Given the description of an element on the screen output the (x, y) to click on. 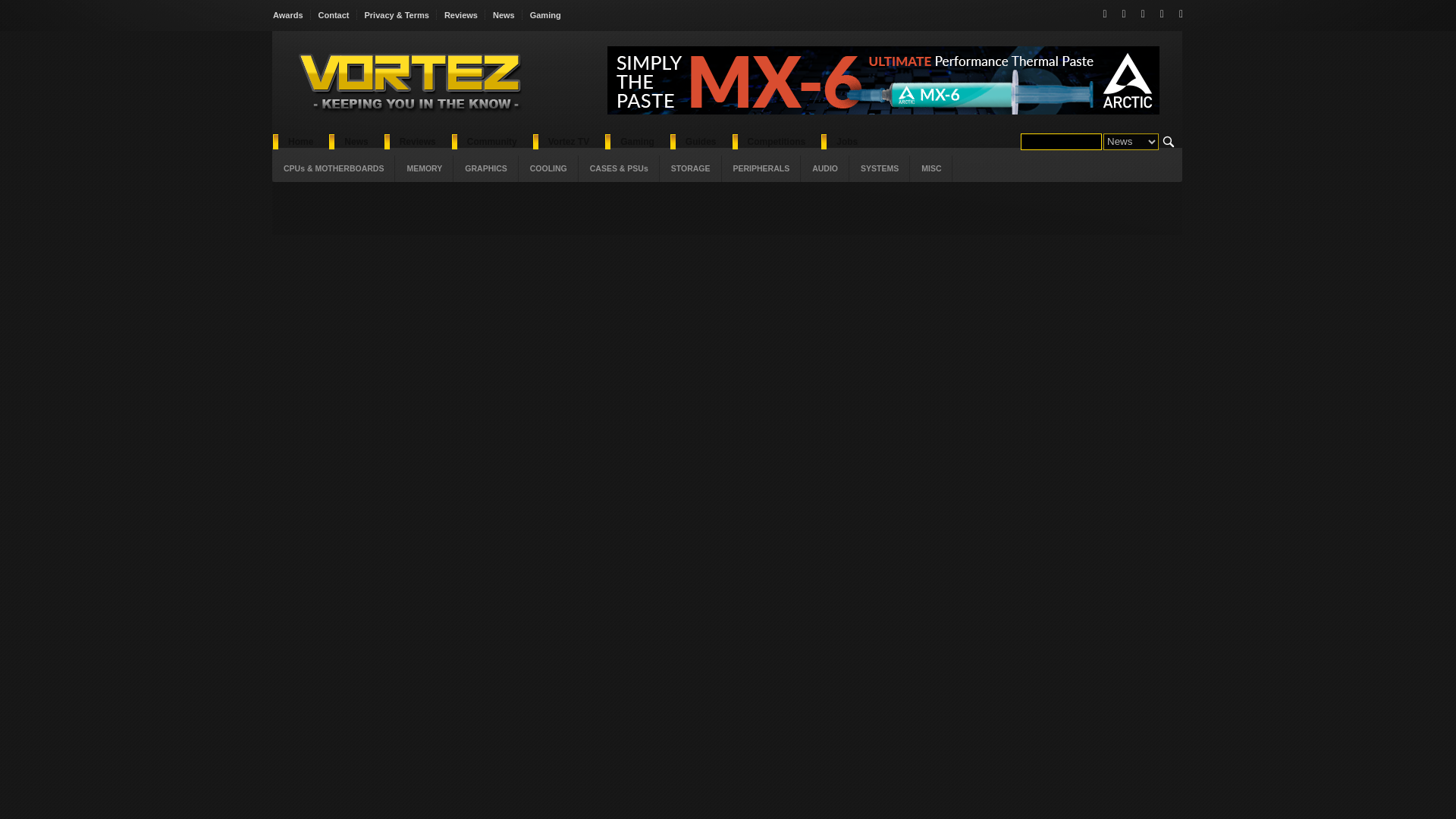
Vortez TV (568, 140)
Competitions (776, 140)
GRAPHICS (485, 167)
MEMORY (423, 167)
Jobs (846, 140)
STORAGE (690, 167)
News (355, 140)
Contact (333, 15)
PERIPHERALS (762, 167)
Gaming (637, 140)
Home (301, 140)
COOLING (548, 167)
Awards (292, 15)
Reviews (417, 140)
Community (491, 140)
